Given the description of an element on the screen output the (x, y) to click on. 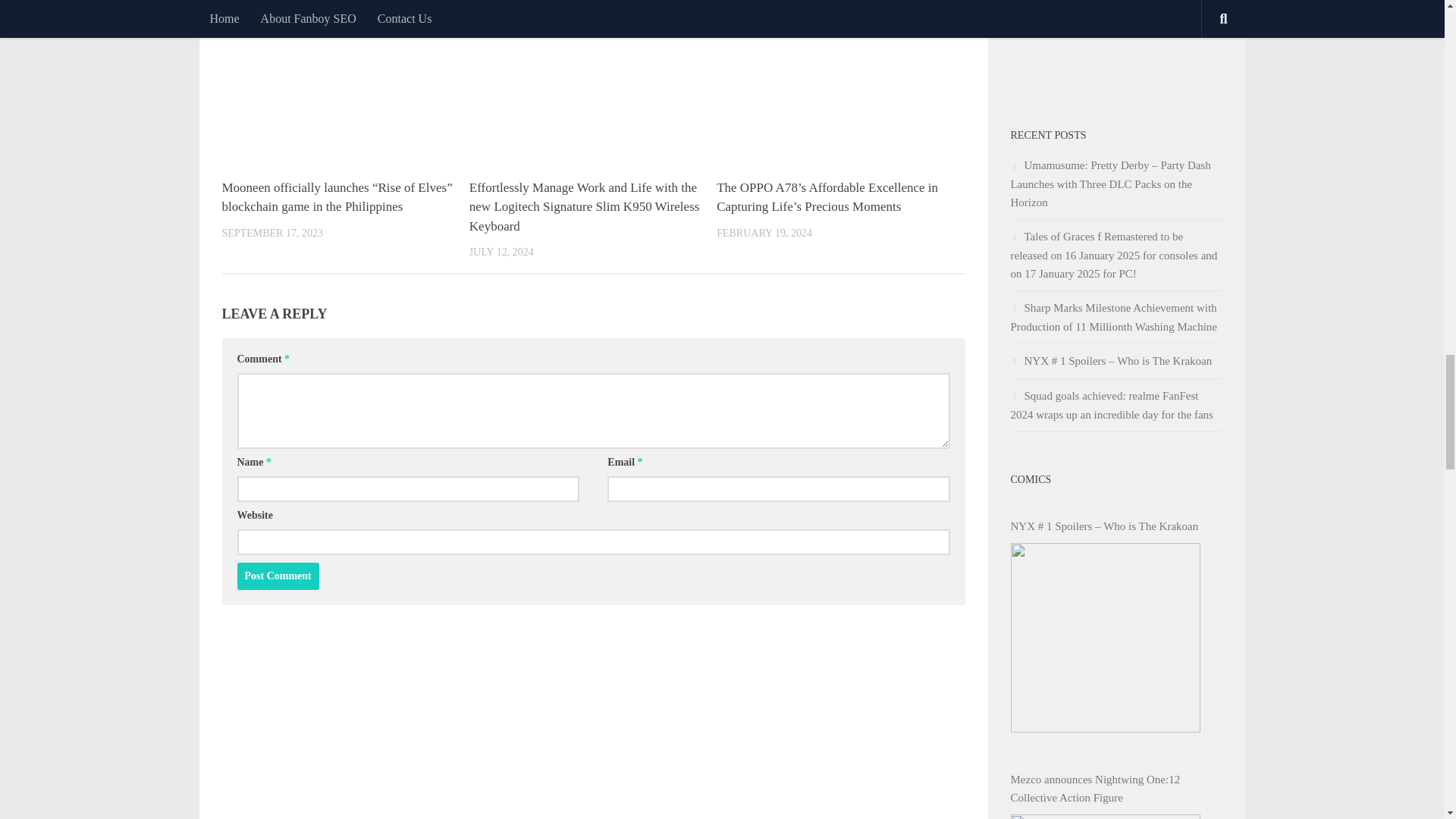
0 (702, 5)
Post Comment (276, 575)
0 (454, 5)
